Given the description of an element on the screen output the (x, y) to click on. 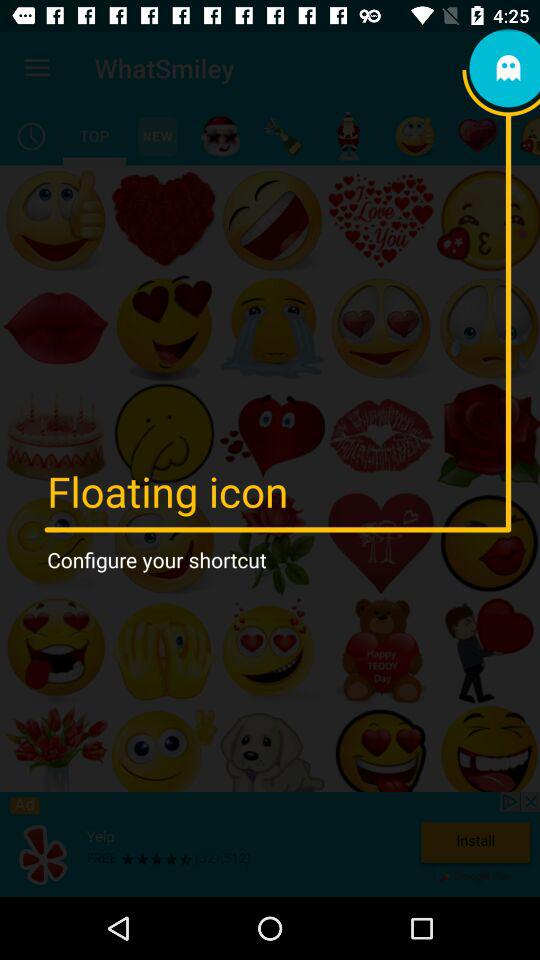
see new emojis (157, 136)
